Given the description of an element on the screen output the (x, y) to click on. 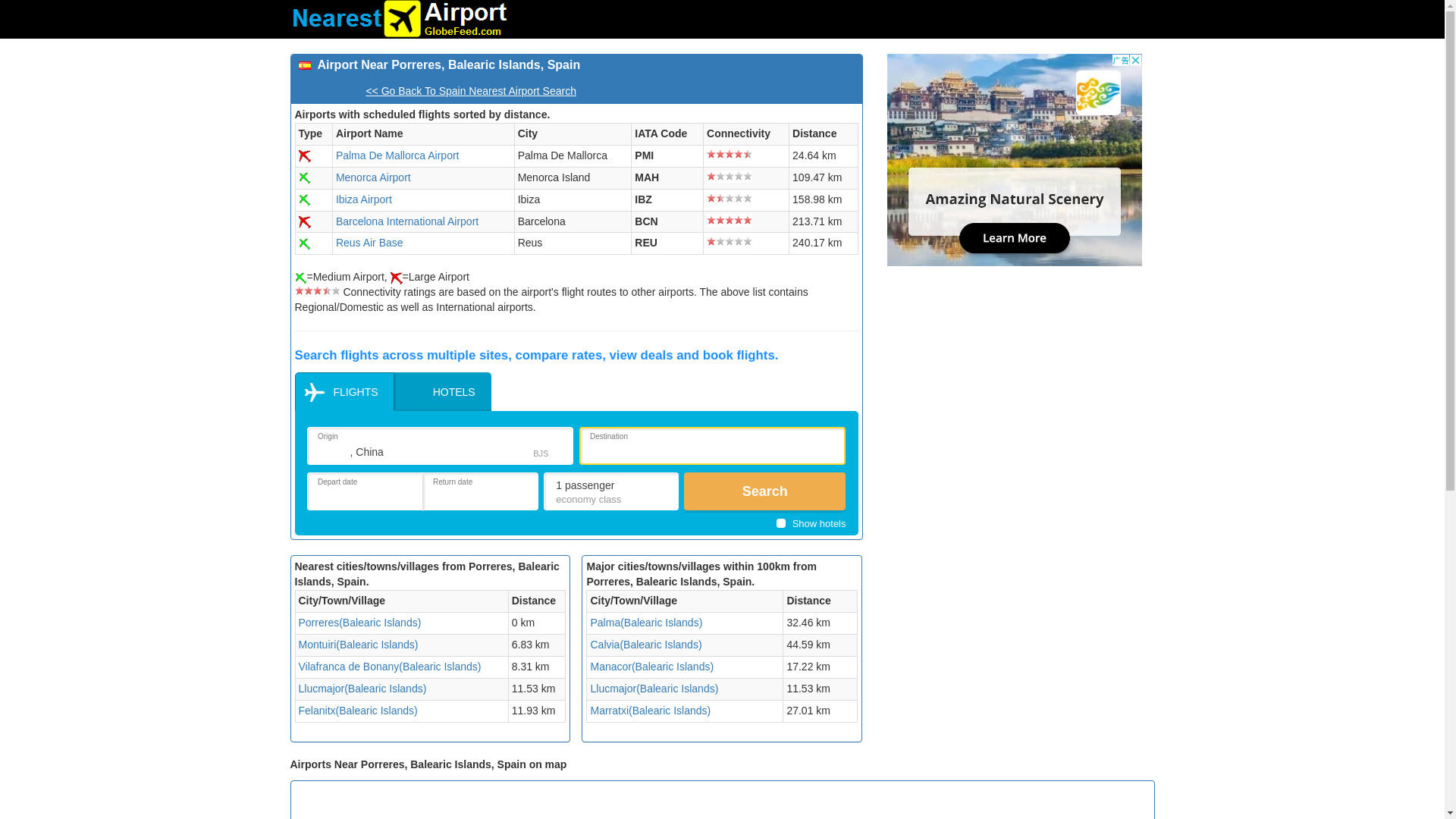
Ibiza Airport (363, 199)
Airports near Llucmajor, Balearic Islands, Spain (653, 688)
Airports near Manacor, Balearic Islands, Spain (651, 666)
Menorca Airport (373, 177)
Palma De Mallorca Airport (398, 155)
Airports near Porreres, Balearic Islands, Spain (360, 622)
Search (764, 491)
Airports near Llucmajor, Balearic Islands, Spain (362, 688)
Airports near Marratxi, Balearic Islands, Spain (649, 710)
Airports near Vilafranca de Bonany, Balearic Islands, Spain (389, 666)
